Given the description of an element on the screen output the (x, y) to click on. 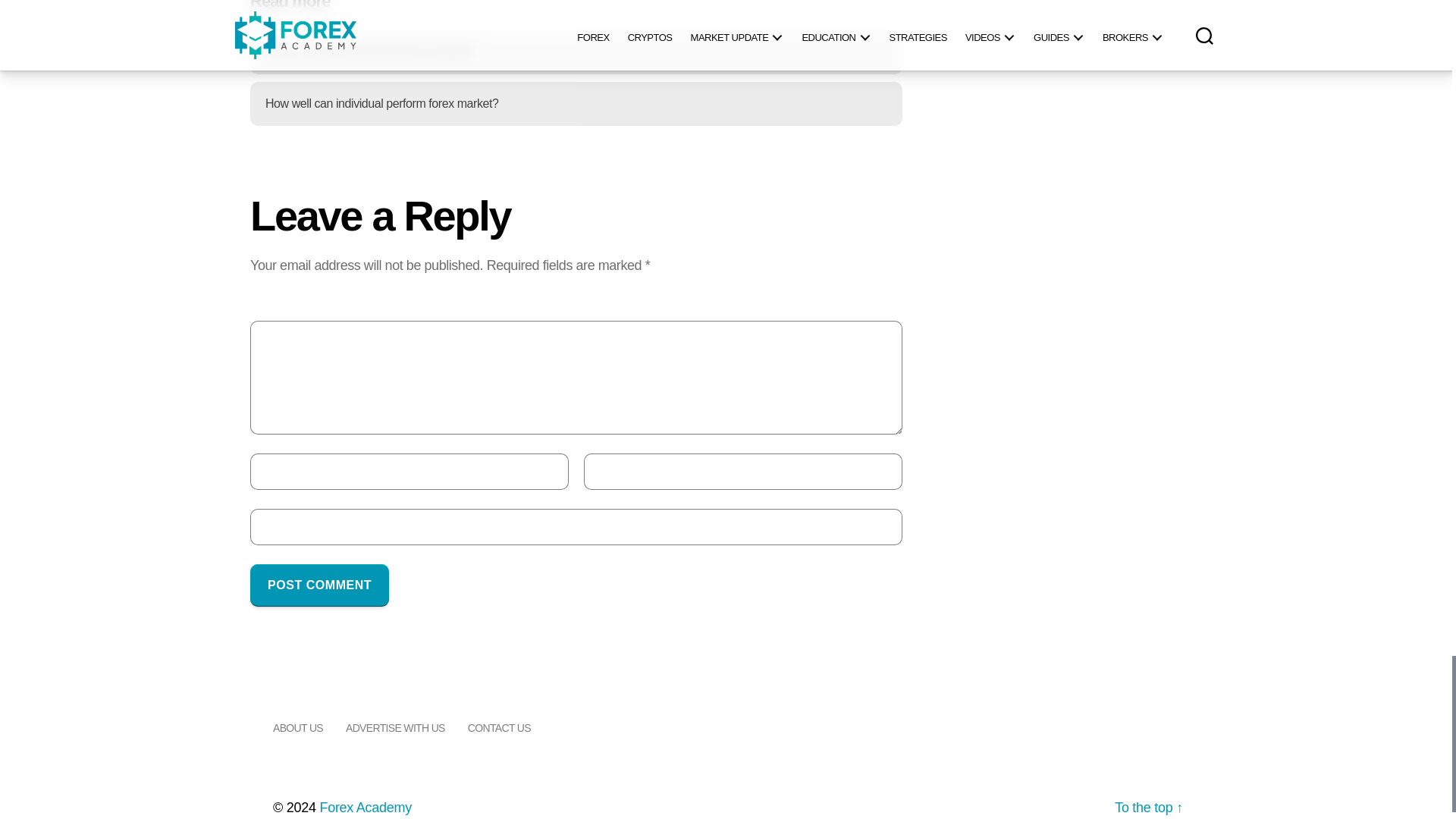
Post Comment (319, 585)
